Given the description of an element on the screen output the (x, y) to click on. 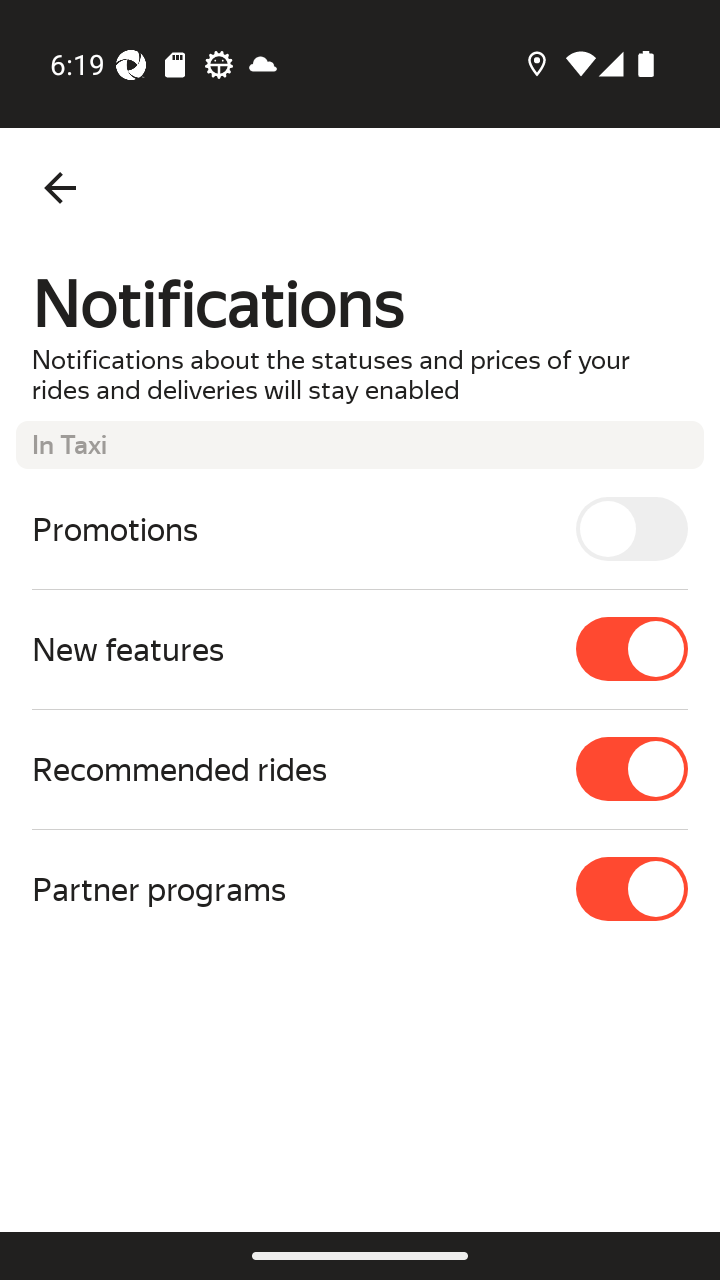
Back (60, 188)
Promotions (360, 528)
New features (360, 648)
Recommended rides (360, 769)
Partner programs (360, 888)
